Given the description of an element on the screen output the (x, y) to click on. 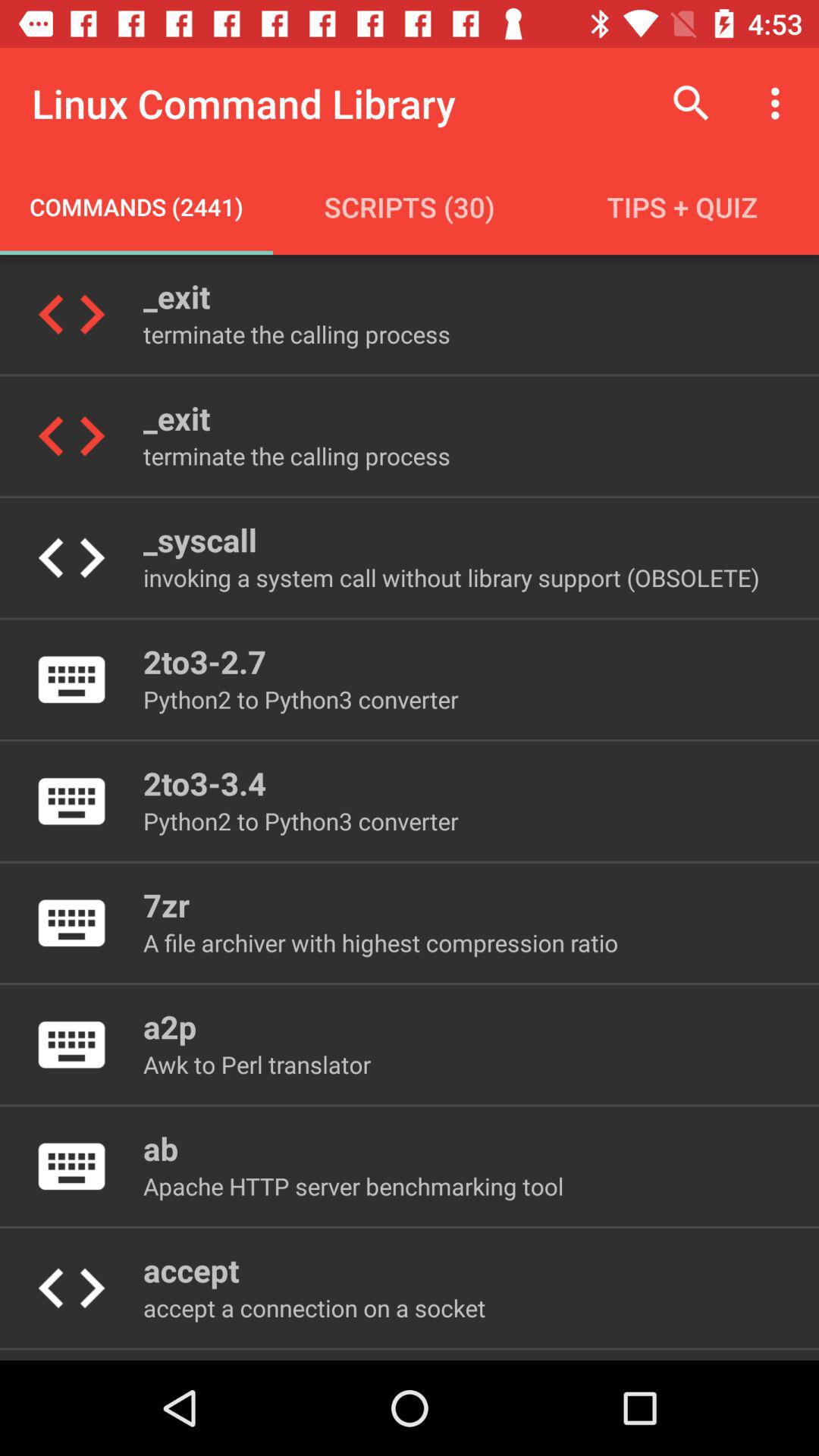
launch the icon above accept icon (353, 1185)
